Given the description of an element on the screen output the (x, y) to click on. 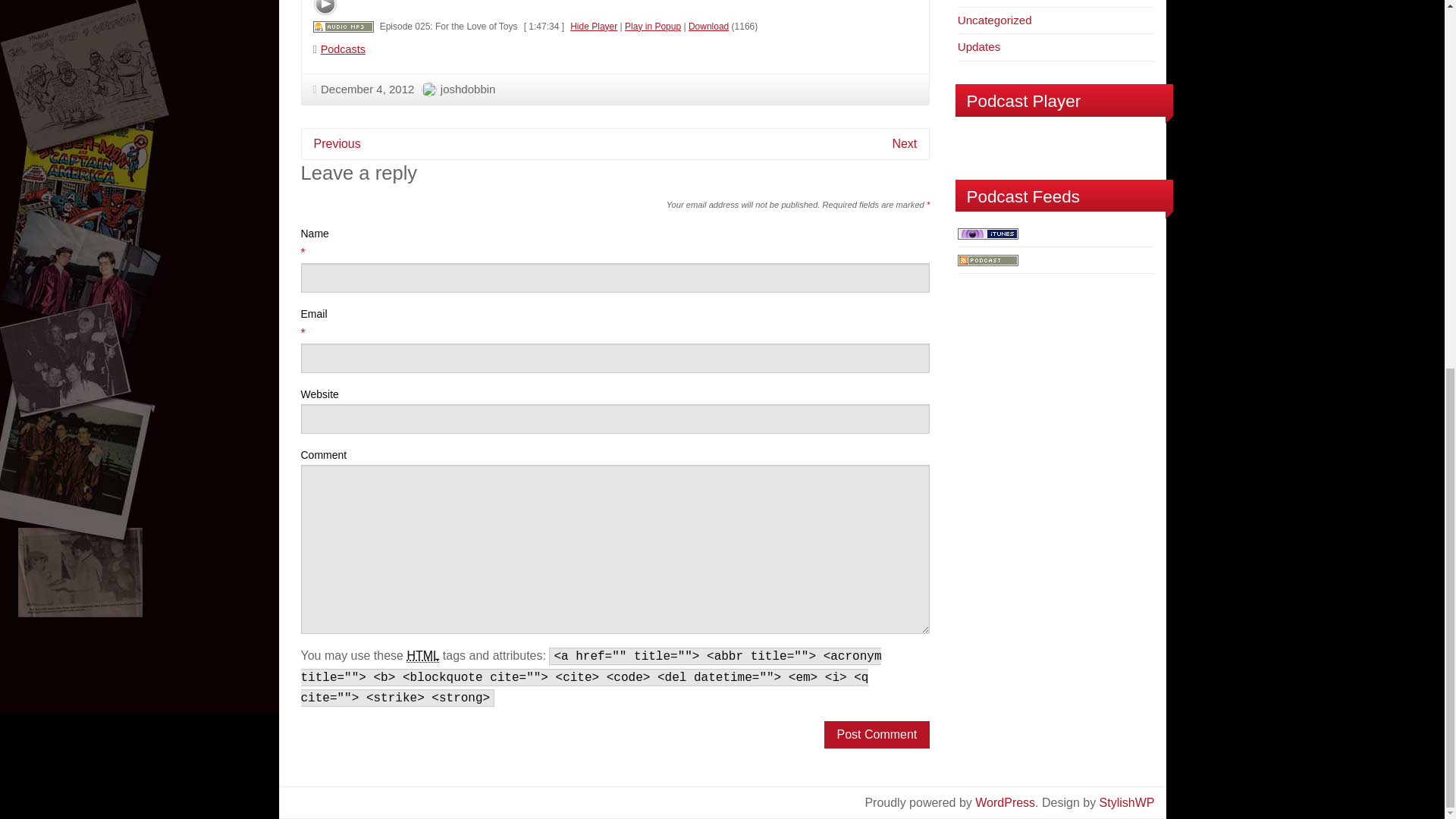
Post Comment (877, 734)
HyperText Markup Language (422, 655)
Next (904, 142)
View all posts in Podcasts (342, 49)
Podcasts (342, 49)
Post Comment (877, 734)
Download: Episode 025: For the Love of Toys (342, 26)
Hide Player (593, 26)
Download (708, 26)
Uncategorized (995, 19)
